Given the description of an element on the screen output the (x, y) to click on. 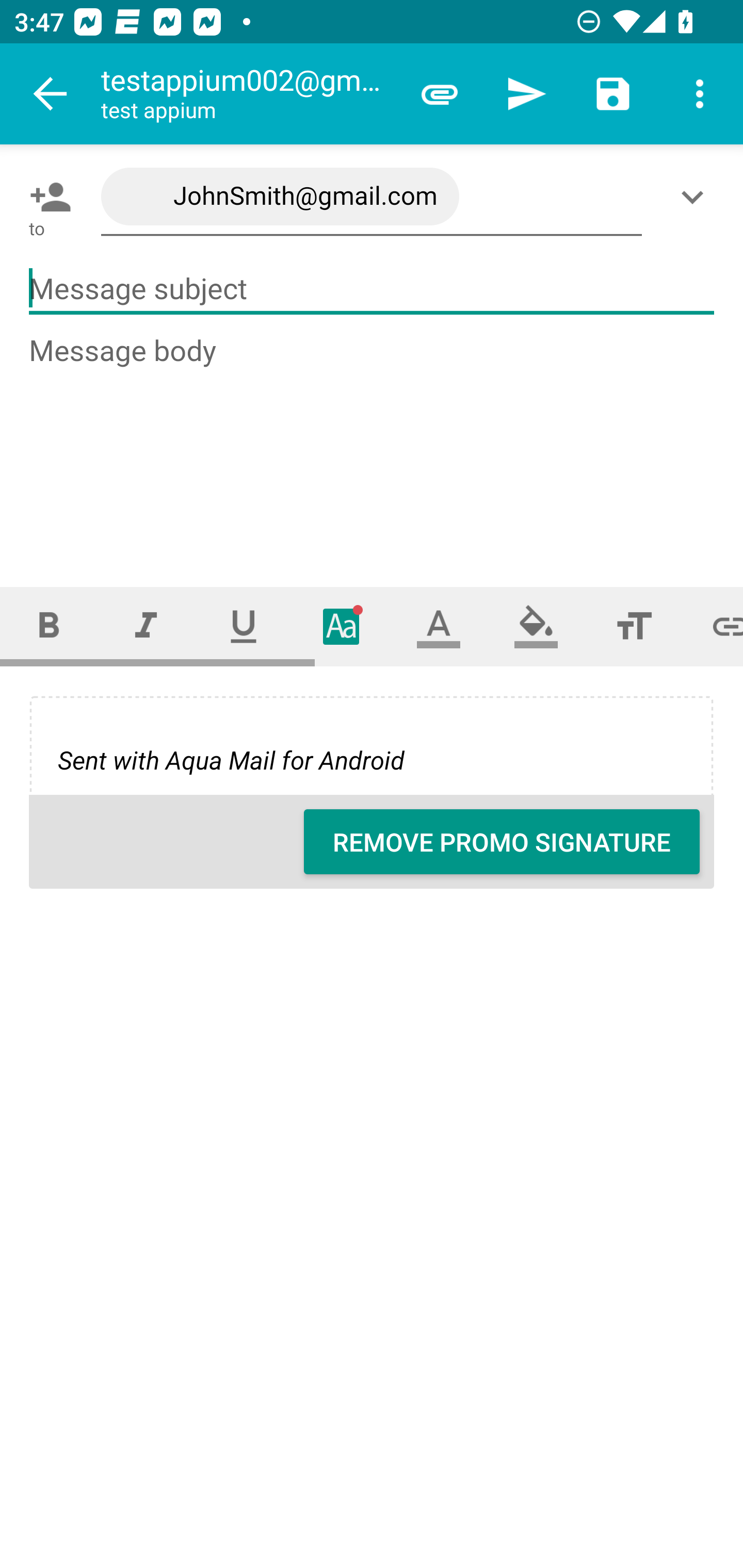
Navigate up (50, 93)
testappium002@gmail.com test appium (248, 93)
Attach (439, 93)
Send (525, 93)
Save (612, 93)
More options (699, 93)
JohnSmith@gmail.com,  (371, 197)
Pick contact: To (46, 196)
Show/Add CC/BCC (696, 196)
Message subject (371, 288)
Message body (372, 442)
Bold (48, 626)
Italic (145, 626)
Underline (243, 626)
Typeface (font) (341, 626)
Text color (438, 626)
Fill color (536, 626)
Font size (633, 626)
Set link (712, 626)
REMOVE PROMO SIGNATURE (501, 841)
